Given the description of an element on the screen output the (x, y) to click on. 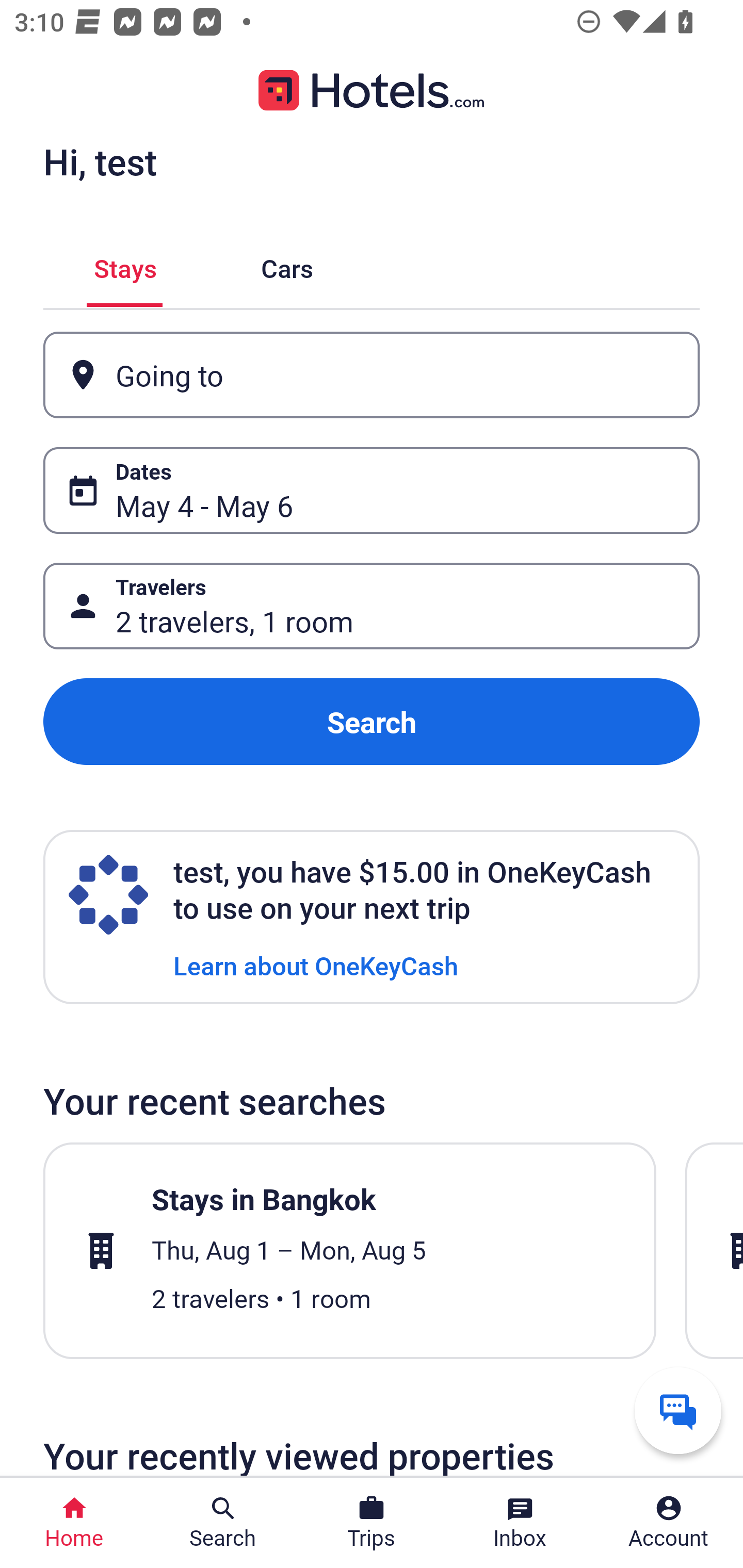
Hi, test (99, 161)
Cars (286, 265)
Going to Button (371, 375)
Dates Button May 4 - May 6 (371, 489)
Travelers Button 2 travelers, 1 room (371, 605)
Search (371, 721)
Learn about OneKeyCash Learn about OneKeyCash Link (315, 964)
Get help from a virtual agent (677, 1410)
Search Search Button (222, 1522)
Trips Trips Button (371, 1522)
Inbox Inbox Button (519, 1522)
Account Profile. Button (668, 1522)
